Given the description of an element on the screen output the (x, y) to click on. 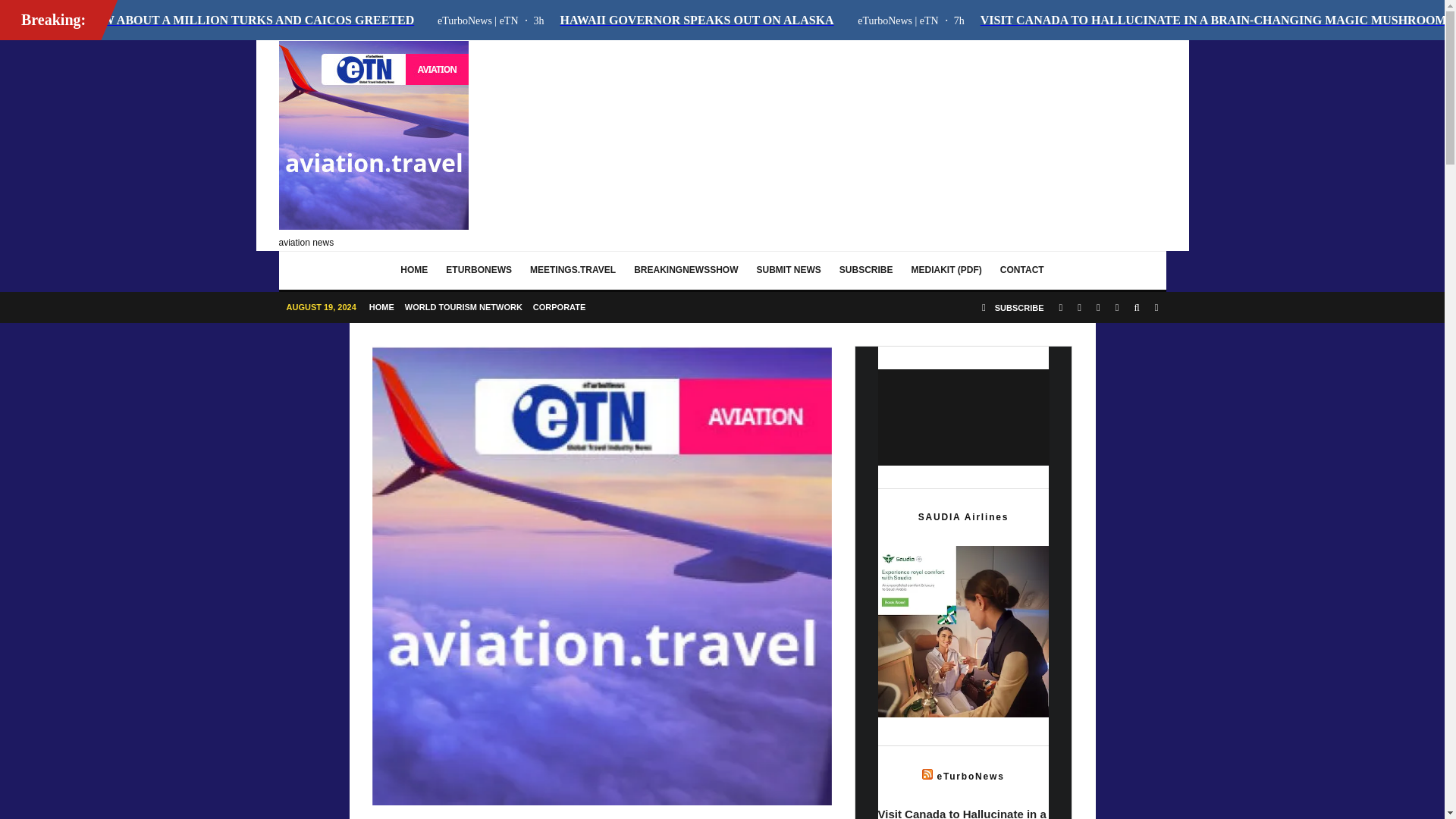
MEETINGS.TRAVEL (572, 270)
WORLD TOURISM NETWORK (462, 306)
ETURBONEWS (478, 270)
BREAKINGNEWSSHOW (685, 270)
Advertisement (890, 141)
CONTACT (1021, 270)
SUBMIT NEWS (788, 270)
SUBSCRIBE (1012, 306)
aviation news (373, 144)
HOME (413, 270)
